Given the description of an element on the screen output the (x, y) to click on. 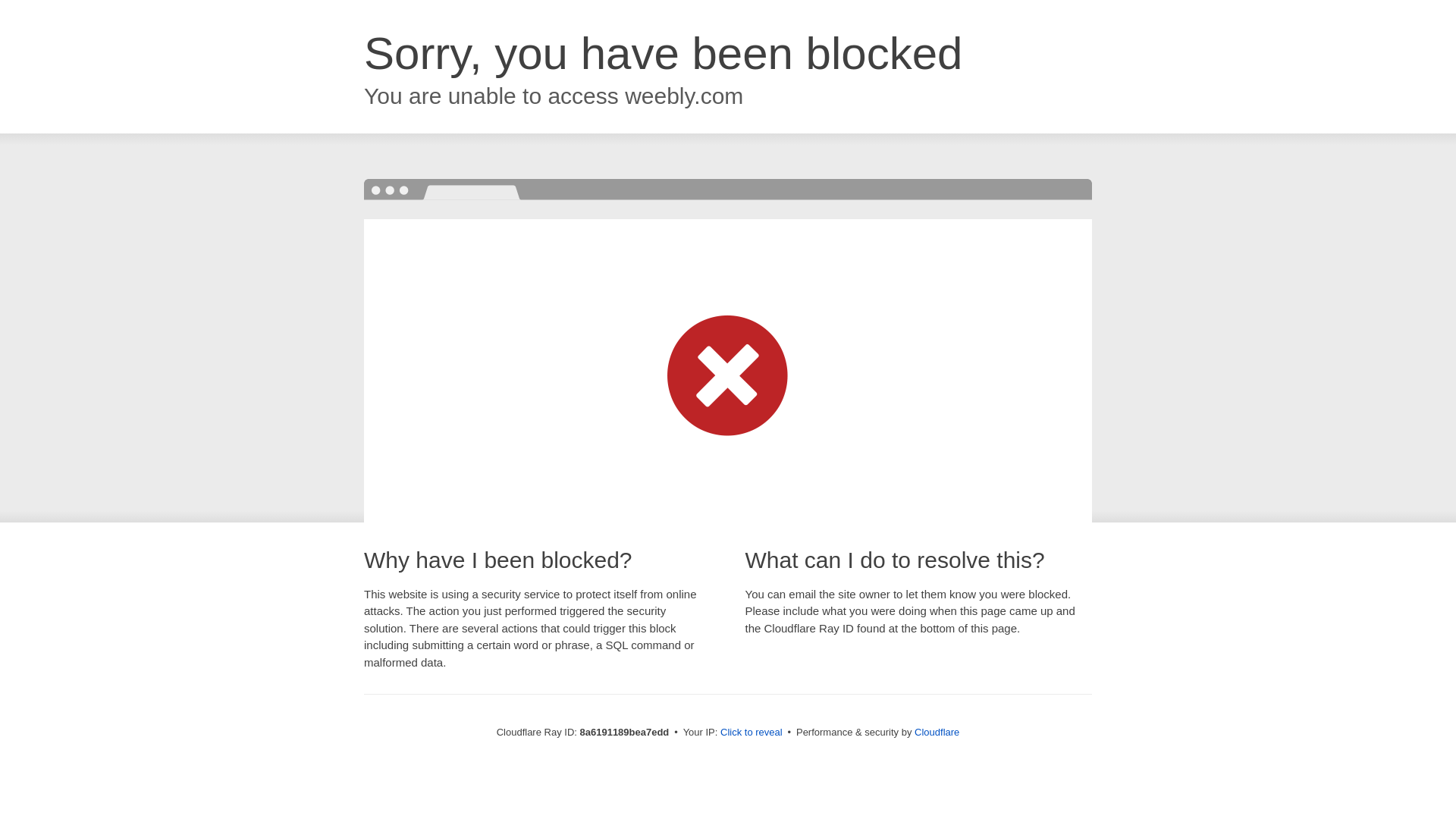
Click to reveal (751, 732)
Cloudflare (936, 731)
